Given the description of an element on the screen output the (x, y) to click on. 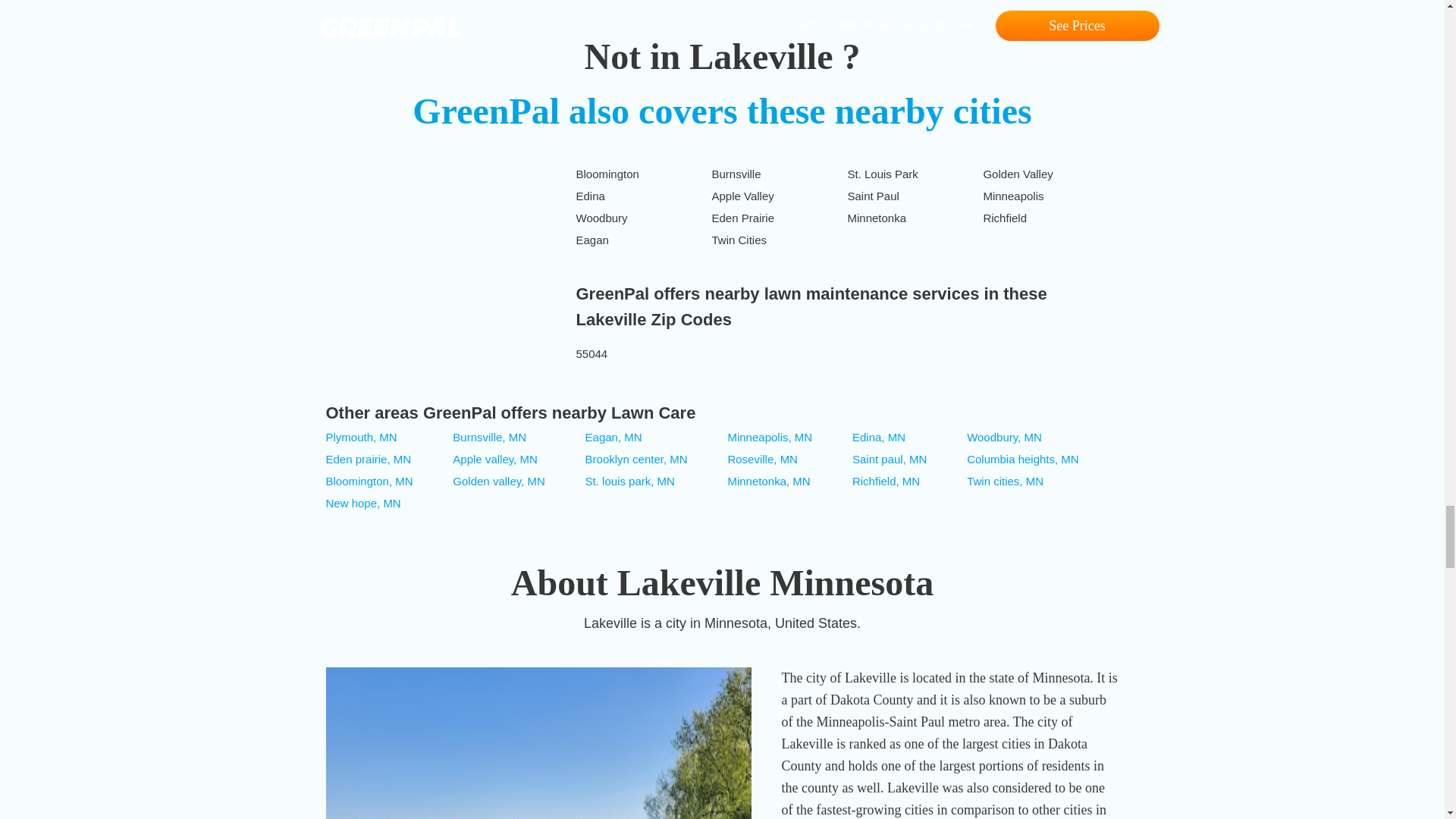
Apple valley, MN (494, 459)
Brooklyn center, MN (636, 459)
Plymouth, MN (361, 436)
Roseville, MN (761, 459)
Saint paul, MN (888, 459)
Burnsville, MN (488, 436)
Eden prairie, MN (369, 459)
Minneapolis, MN (769, 436)
Edina, MN (878, 436)
Eagan, MN (613, 436)
Columbia heights, MN (1022, 459)
Woodbury, MN (1004, 436)
